Given the description of an element on the screen output the (x, y) to click on. 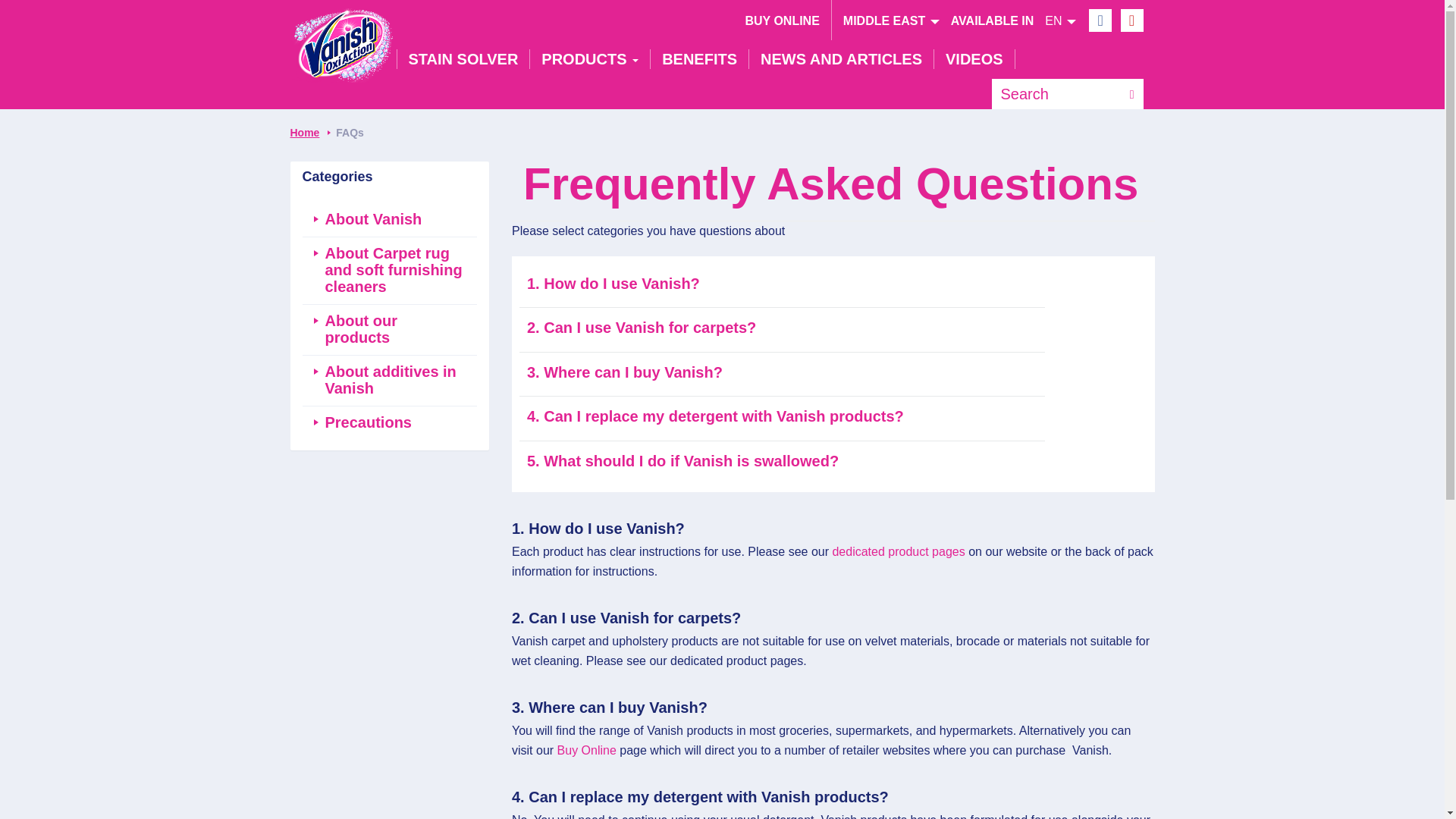
YouTube (1131, 17)
EN (897, 551)
Home (341, 38)
text (1056, 93)
MIDDLE EAST (890, 20)
Home (341, 38)
Facebook (1100, 17)
Facebook (1100, 17)
YouTube (1131, 17)
BUY ONLINE (781, 20)
